Given the description of an element on the screen output the (x, y) to click on. 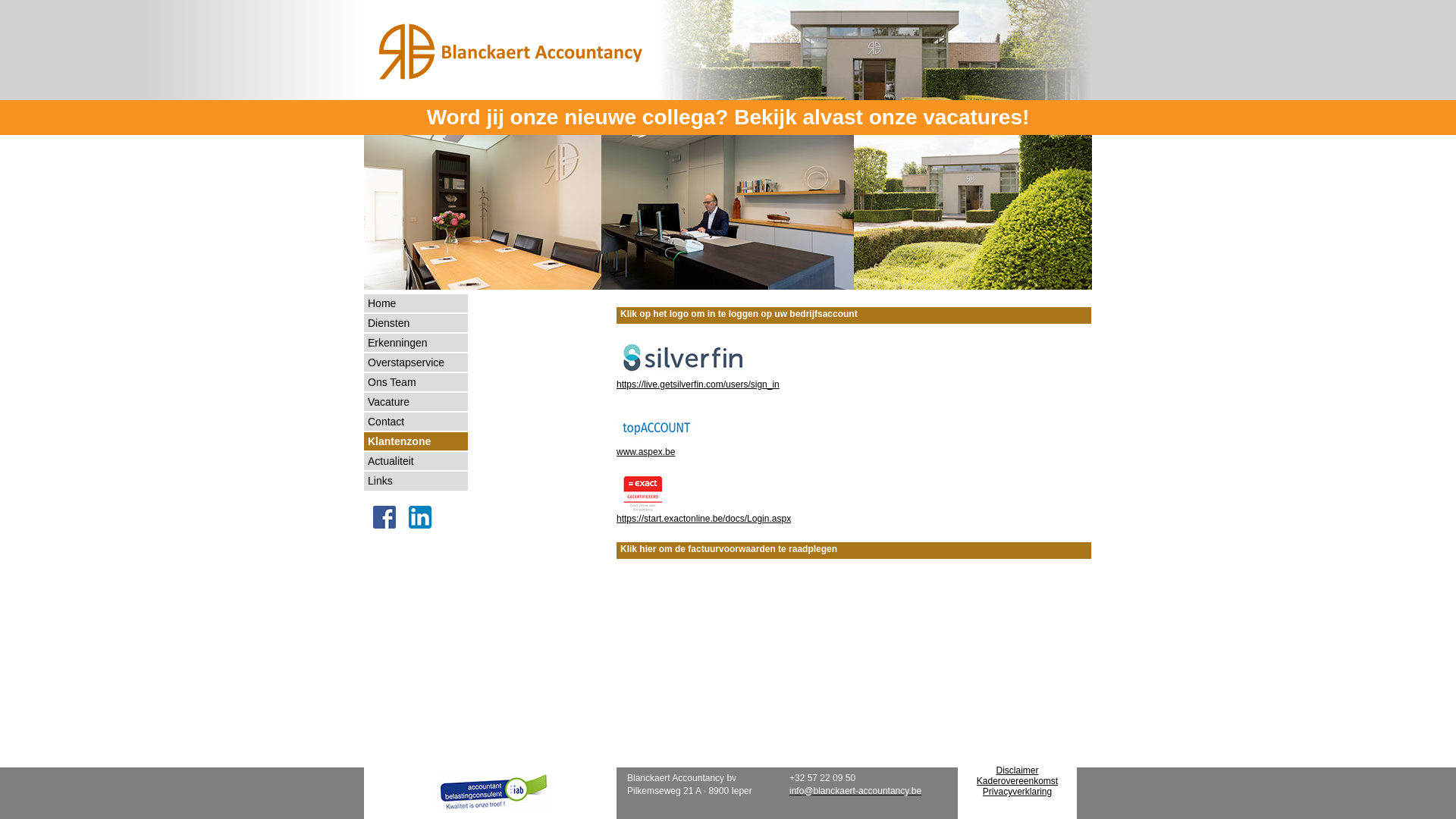
Privacyverklaring Element type: text (1016, 791)
Vacature Element type: text (415, 401)
Klik hier om de factuurvoorwaarden te raadplegen Element type: text (853, 550)
Home Element type: text (415, 303)
Erkenningen Element type: text (415, 342)
info@blanckaert-accountancy.be Element type: text (855, 790)
Kaderovereenkomst Element type: text (1016, 780)
https://live.getsilverfin.com/users/sign_in Element type: text (697, 384)
Contact Element type: text (415, 421)
www.aspex.be Element type: text (645, 451)
Links Element type: text (415, 480)
Klantenzone Element type: text (415, 441)
Actualiteit Element type: text (415, 460)
Diensten Element type: text (415, 322)
https://start.exactonline.be/docs/Login.aspx Element type: text (703, 518)
Ons Team Element type: text (415, 382)
Overstapservice Element type: text (415, 362)
